Given the description of an element on the screen output the (x, y) to click on. 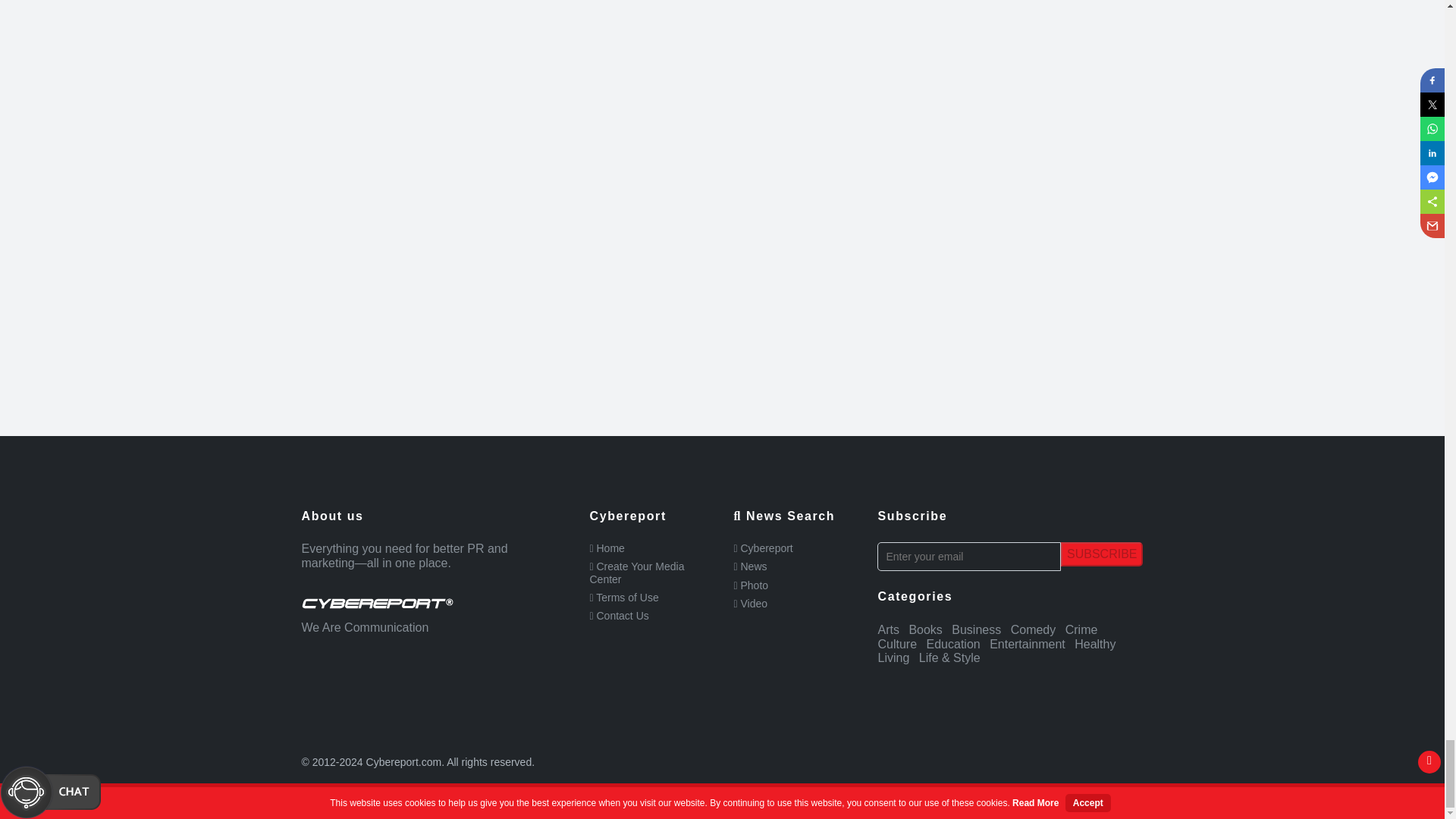
Subscribe (1101, 554)
